Given the description of an element on the screen output the (x, y) to click on. 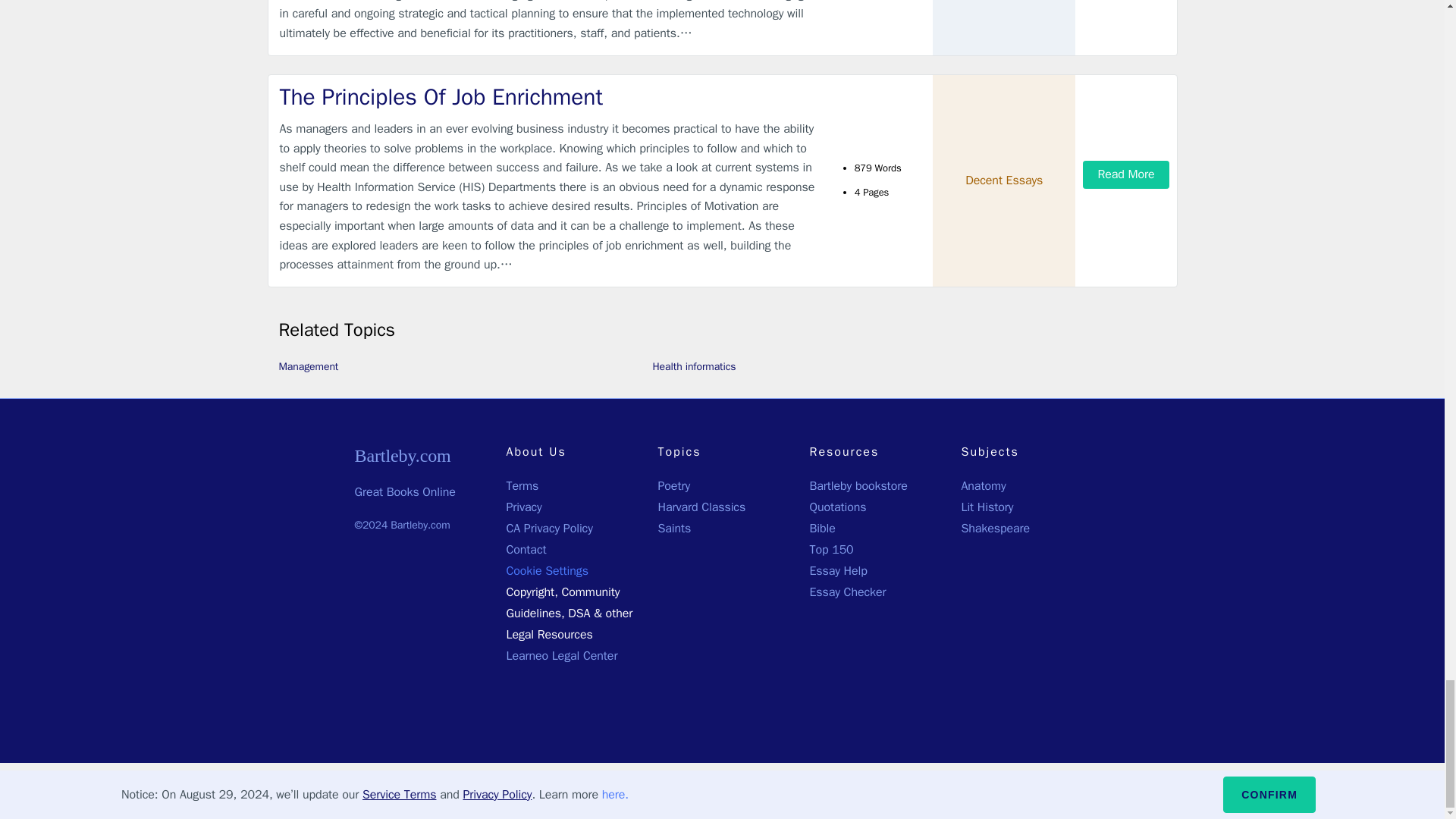
Health informatics (693, 366)
Management (309, 366)
